Given the description of an element on the screen output the (x, y) to click on. 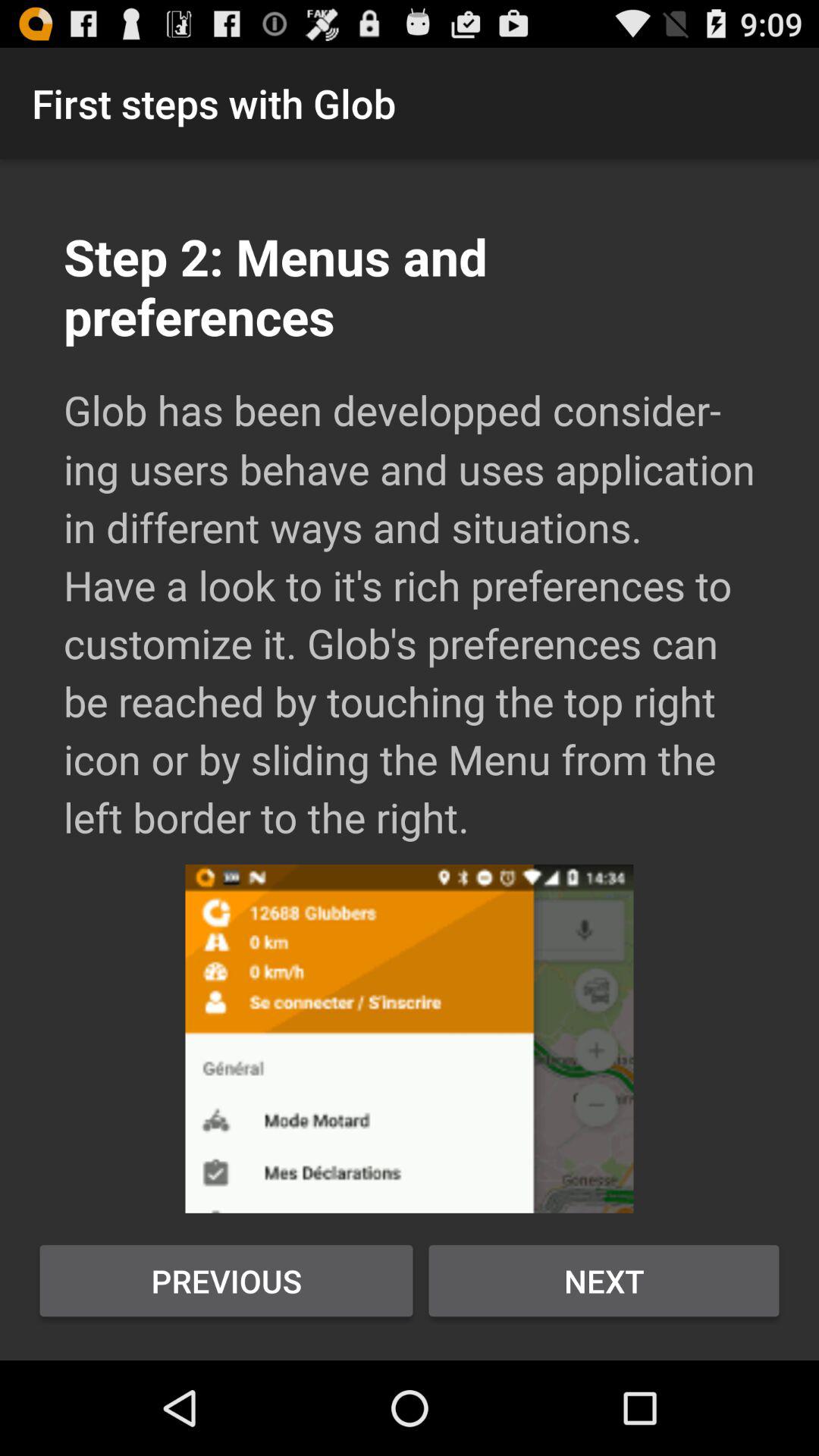
launch item next to the next button (225, 1280)
